Given the description of an element on the screen output the (x, y) to click on. 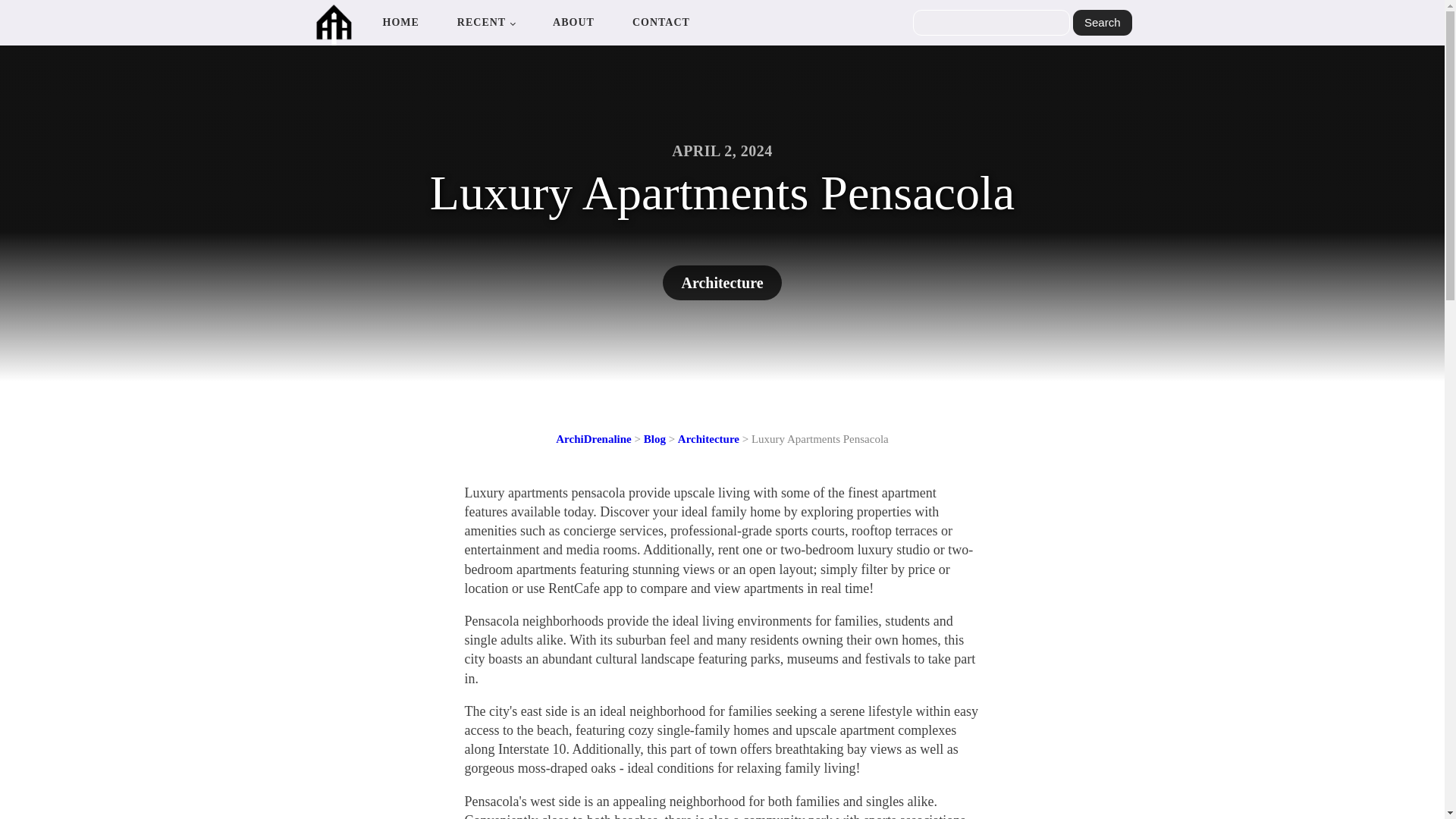
CONTACT (660, 22)
Blog (654, 439)
Go to ArchiDrenaline. (593, 439)
ABOUT (573, 22)
ArchiDrenaline (593, 439)
Go to the Architecture Category archives. (708, 439)
HOME (401, 22)
Go to Blog. (654, 439)
Architecture (721, 282)
Architecture (708, 439)
